Given the description of an element on the screen output the (x, y) to click on. 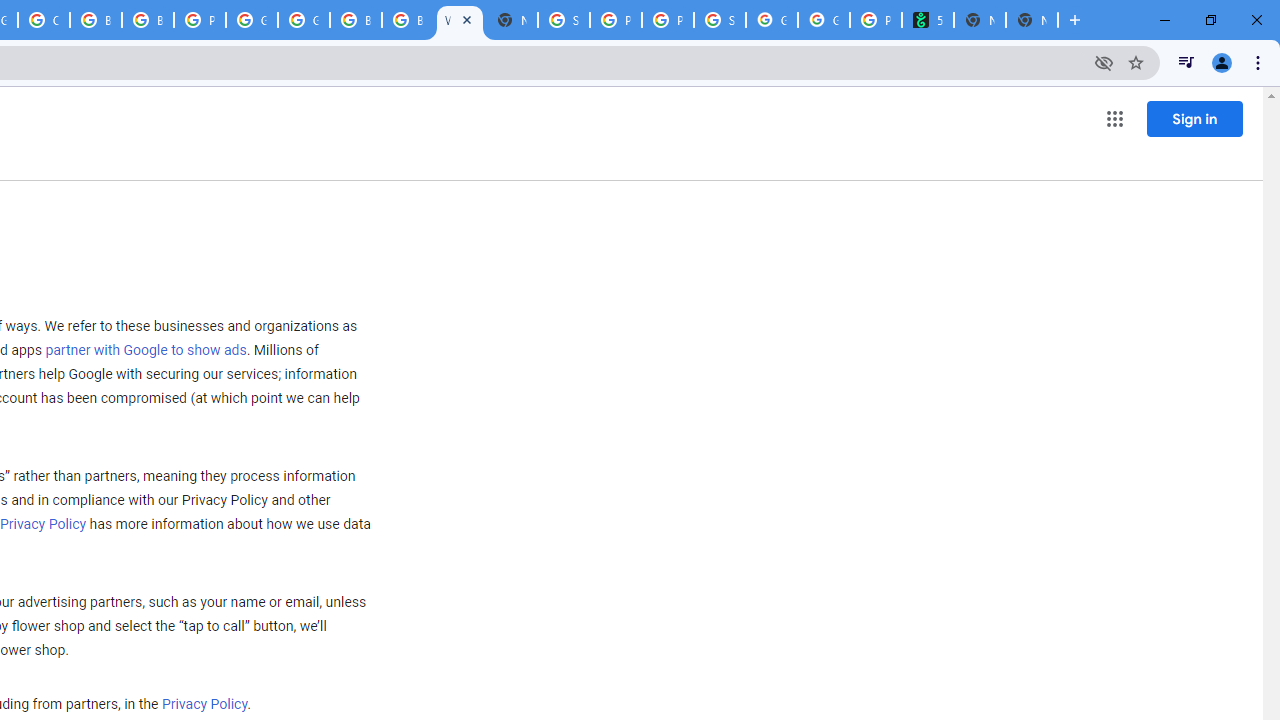
Sign in - Google Accounts (563, 20)
New Tab (511, 20)
Google Cloud Platform (303, 20)
